Given the description of an element on the screen output the (x, y) to click on. 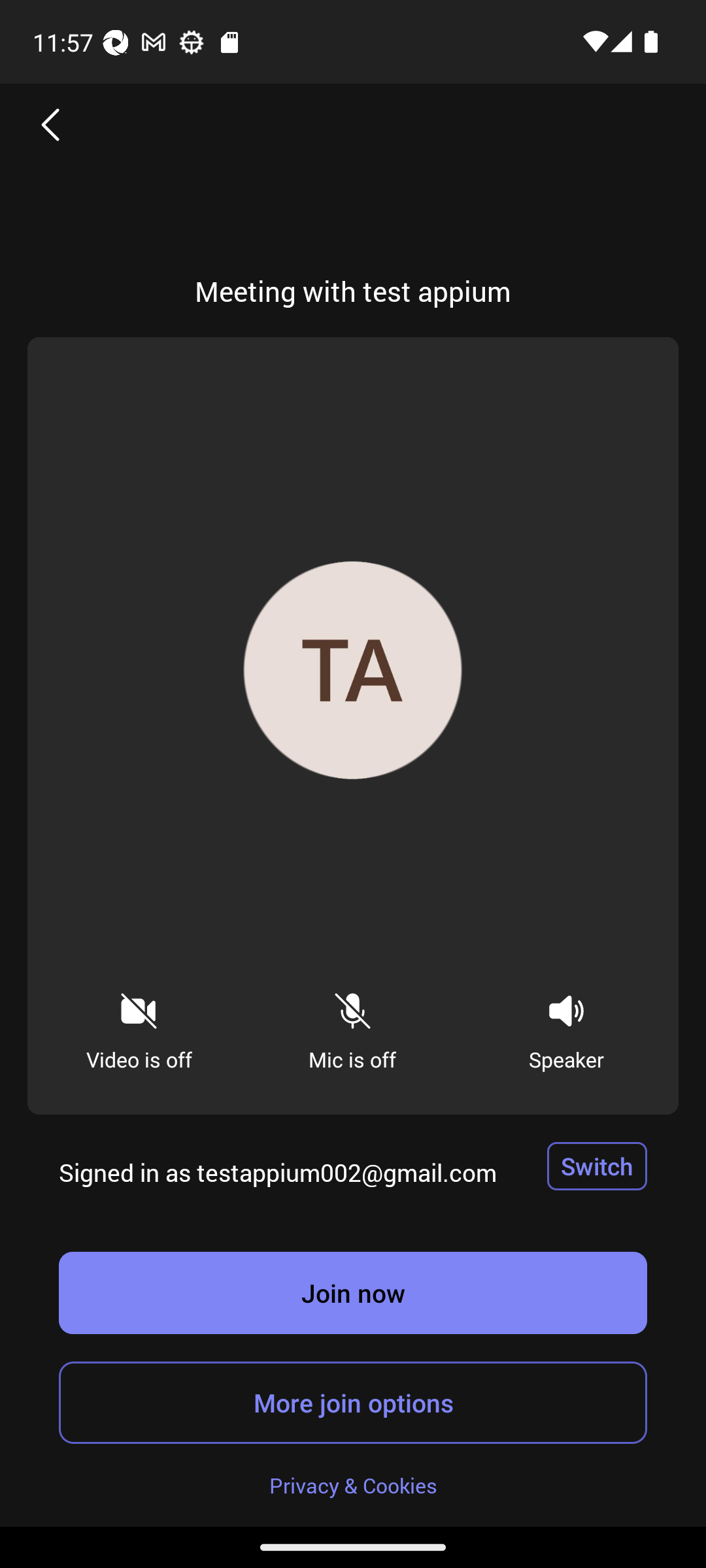
Back (51, 124)
Video is off (138, 1025)
Mic muted Mic is off (352, 1025)
Audio Speaker Audio Speaker (566, 1025)
Switch (597, 1165)
Join now (352, 1292)
More join options (352, 1402)
Privacy & Cookies (352, 1484)
